Given the description of an element on the screen output the (x, y) to click on. 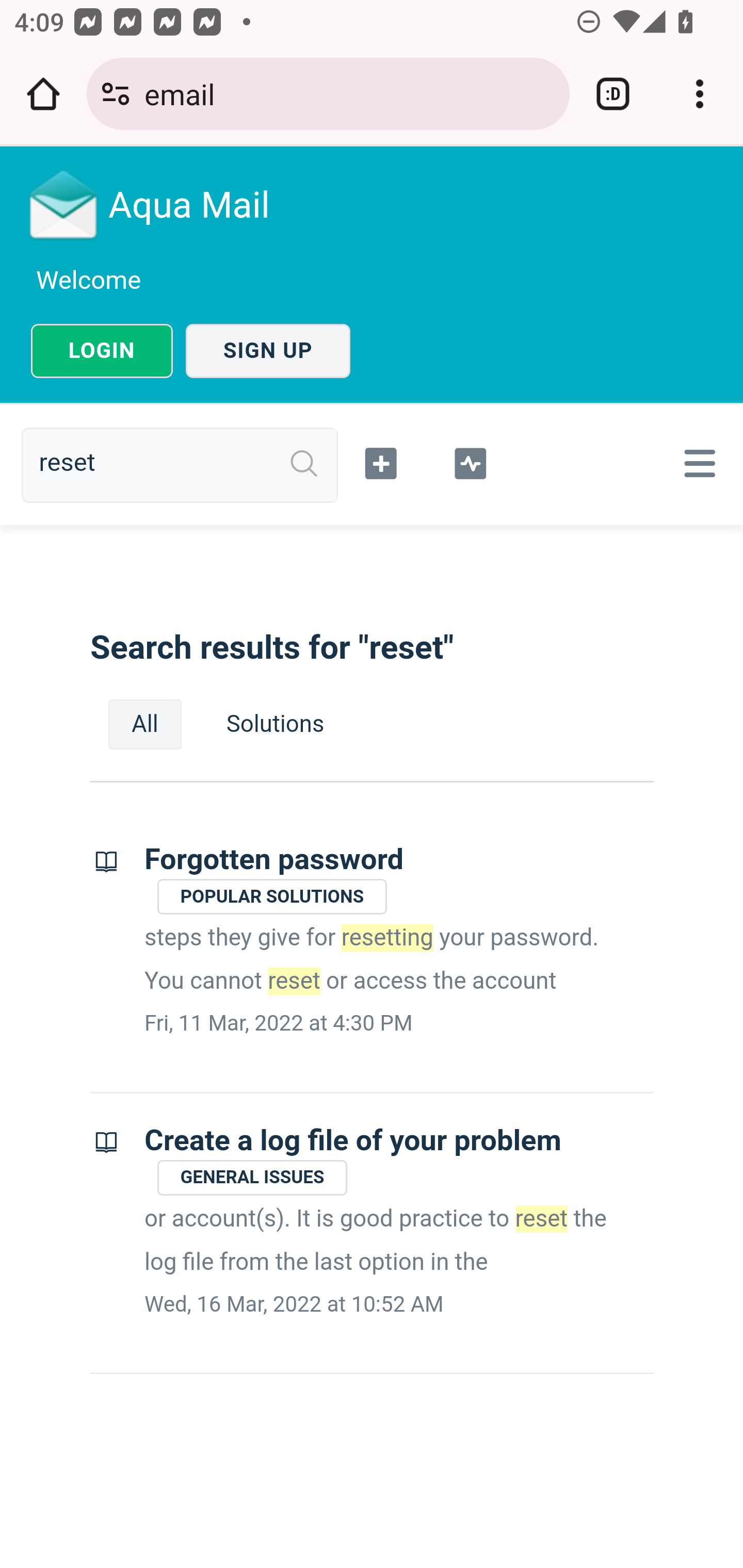
Open the home page (43, 93)
Connection is secure (115, 93)
Switch or close tabs (612, 93)
Customize and control Google Chrome (699, 93)
email (349, 92)
Logo (63, 204)
LOGIN (101, 351)
SIGN UP (268, 351)
 (695, 463)
reset (187, 464)
Search (304, 464)
 (381, 460)
 (470, 460)
All (145, 724)
Solutions (275, 724)
Forgotten password (274, 860)
Create a log file of your problem (353, 1140)
